Given the description of an element on the screen output the (x, y) to click on. 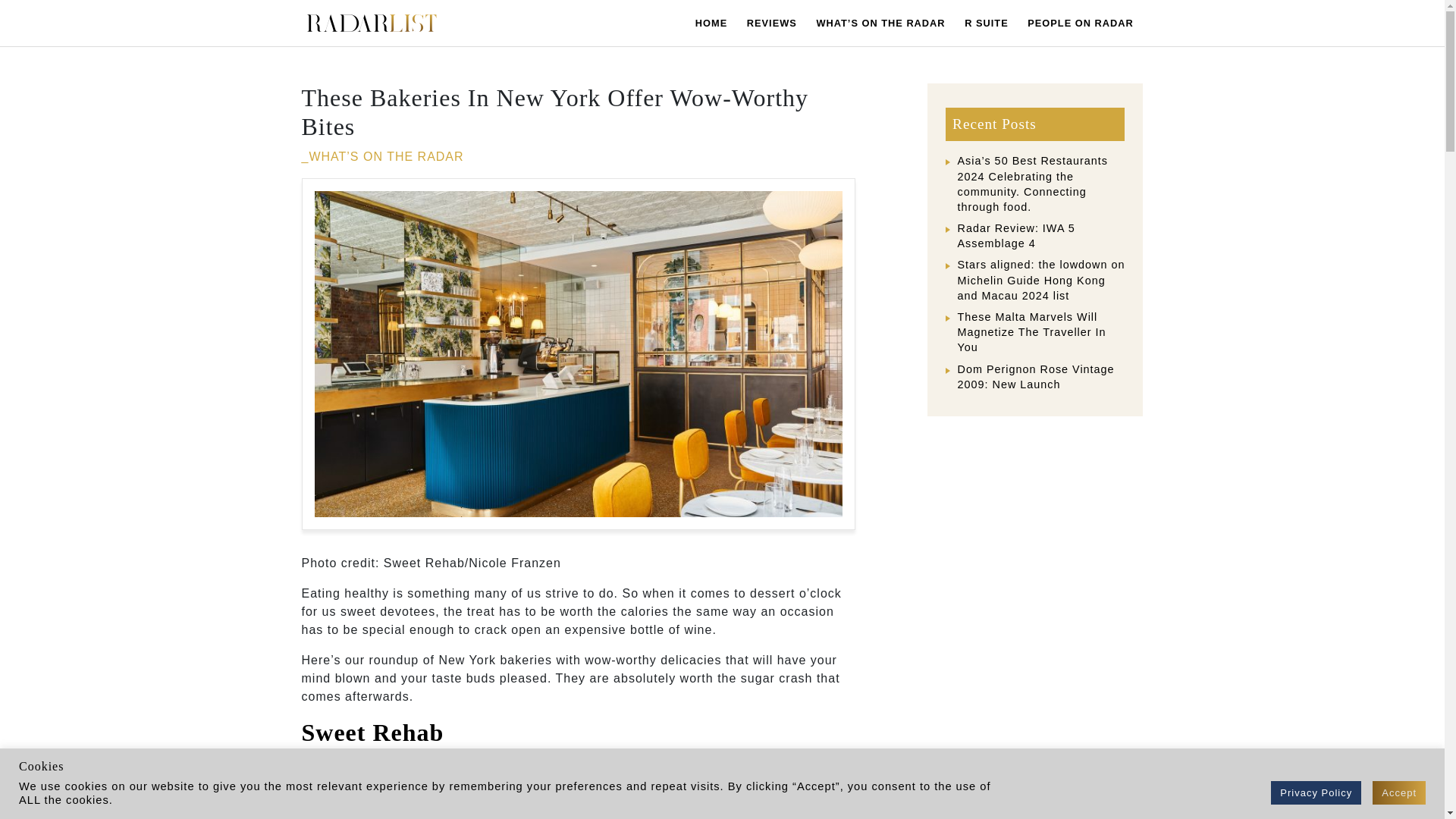
Sweet Rehab (372, 732)
Home (710, 22)
PEOPLE ON RADAR (1079, 22)
REVIEWS (771, 22)
REVIEWS (771, 22)
PEOPLE ON RADAR (1079, 22)
R SUITE (986, 22)
HOME (710, 22)
Radar Review: IWA 5 Assemblage 4 (1015, 235)
R SUITE (986, 22)
